Given the description of an element on the screen output the (x, y) to click on. 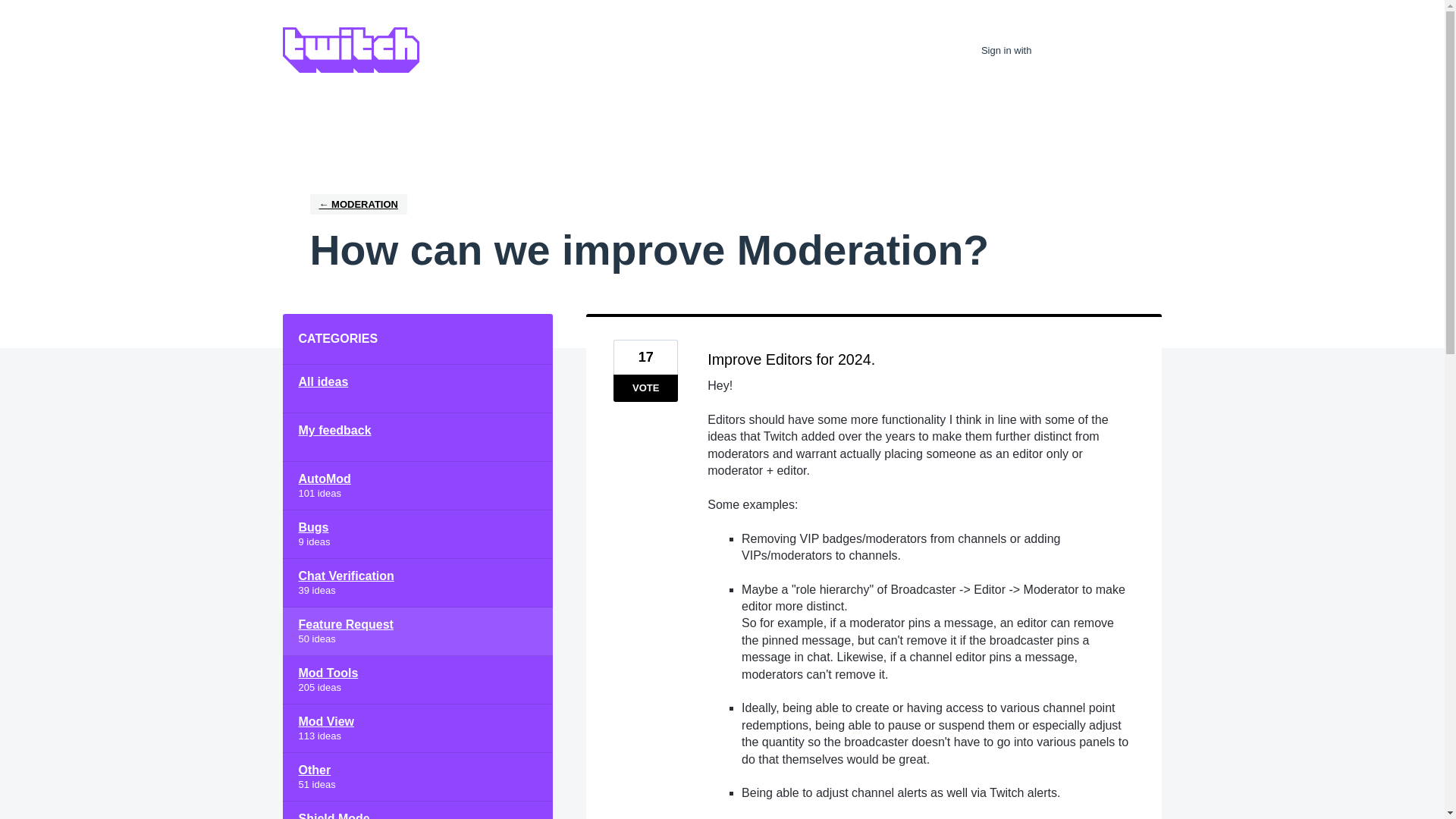
Chat Verification (417, 582)
Mod View (417, 728)
Feature Request (417, 631)
Other (417, 776)
All ideas (417, 388)
View all ideas in category AutoMod (417, 485)
Shield Mode (417, 810)
AutoMod (417, 485)
View all ideas in category Mod Tools (417, 680)
View all ideas in category Chat Verification (417, 582)
